Given the description of an element on the screen output the (x, y) to click on. 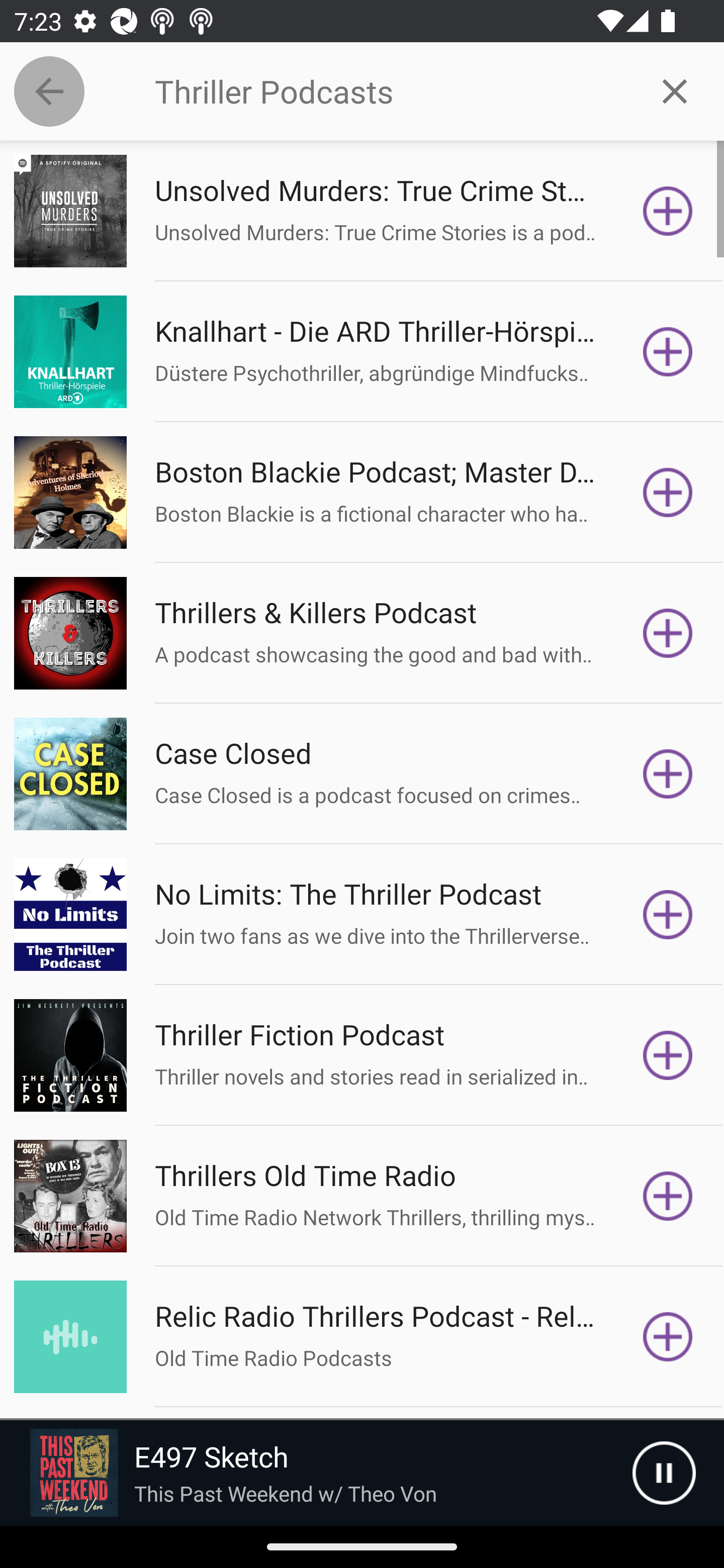
Collapse (49, 91)
Clear query (674, 90)
Thriller Podcasts (389, 91)
Subscribe (667, 211)
Subscribe (667, 350)
Subscribe (667, 491)
Subscribe (667, 633)
Subscribe (667, 773)
Subscribe (667, 913)
Subscribe (667, 1054)
Subscribe (667, 1195)
Subscribe (667, 1336)
Picture E497 Sketch This Past Weekend w/ Theo Von (316, 1472)
Pause (663, 1472)
